Given the description of an element on the screen output the (x, y) to click on. 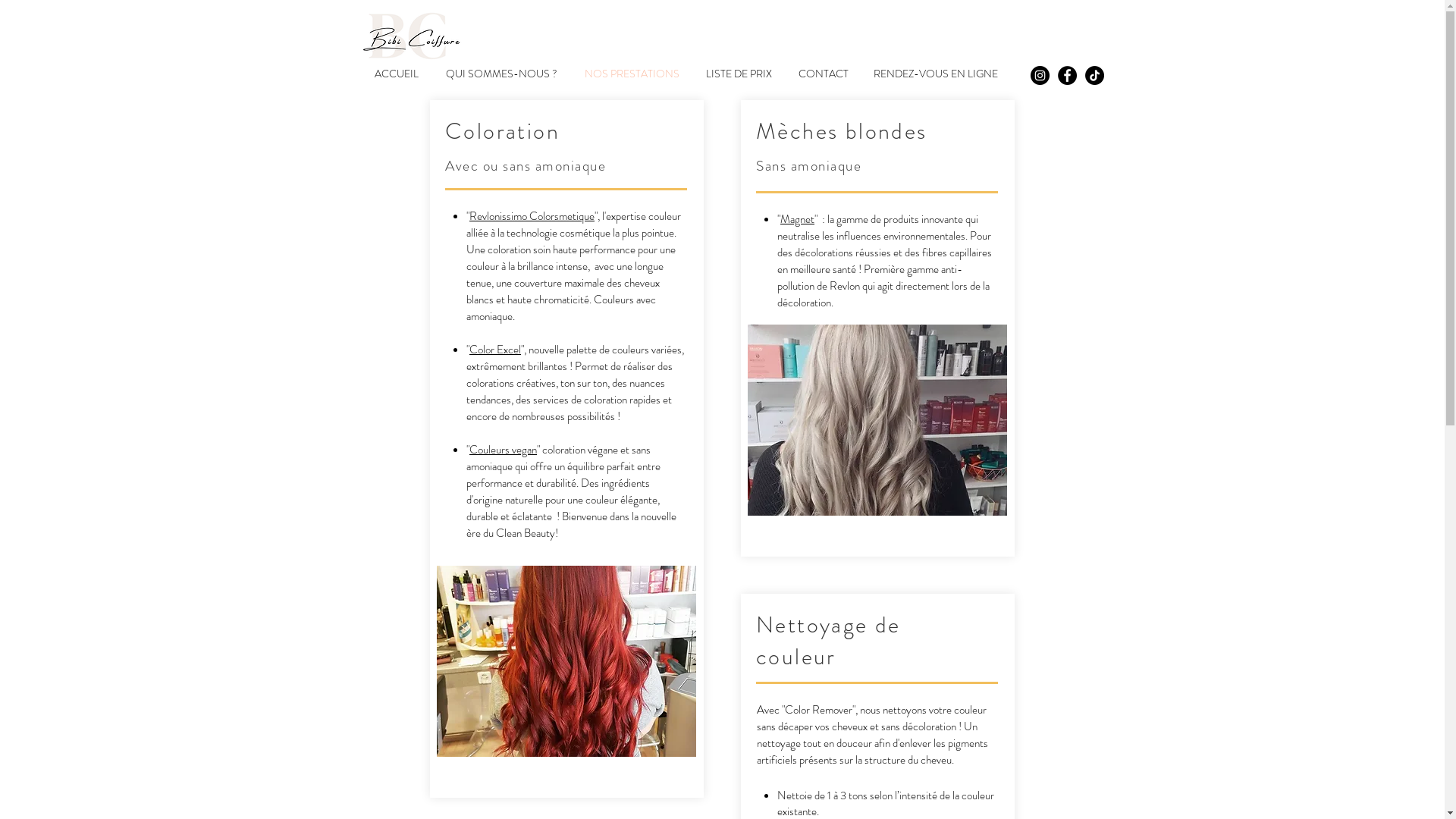
ACCUEIL Element type: text (397, 73)
Revlonissimo Colorsmetique Element type: text (531, 215)
QUI SOMMES-NOUS ? Element type: text (502, 73)
NOS PRESTATIONS Element type: text (633, 73)
RENDEZ-VOUS EN LIGNE Element type: text (935, 73)
CONTACT Element type: text (825, 73)
Couleurs vegan Element type: text (502, 449)
LISTE DE PRIX Element type: text (740, 73)
